Given the description of an element on the screen output the (x, y) to click on. 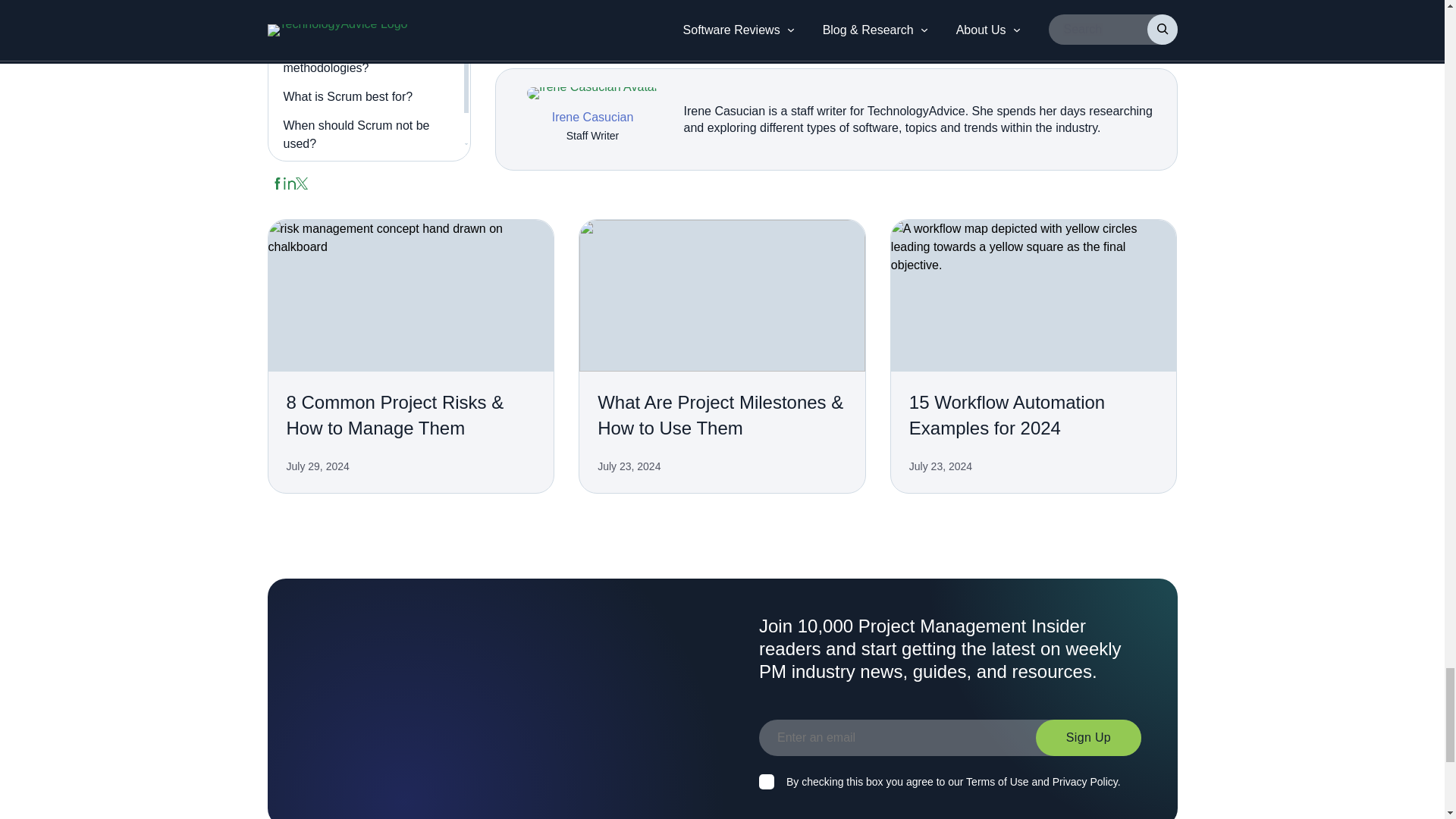
on (765, 781)
